Given the description of an element on the screen output the (x, y) to click on. 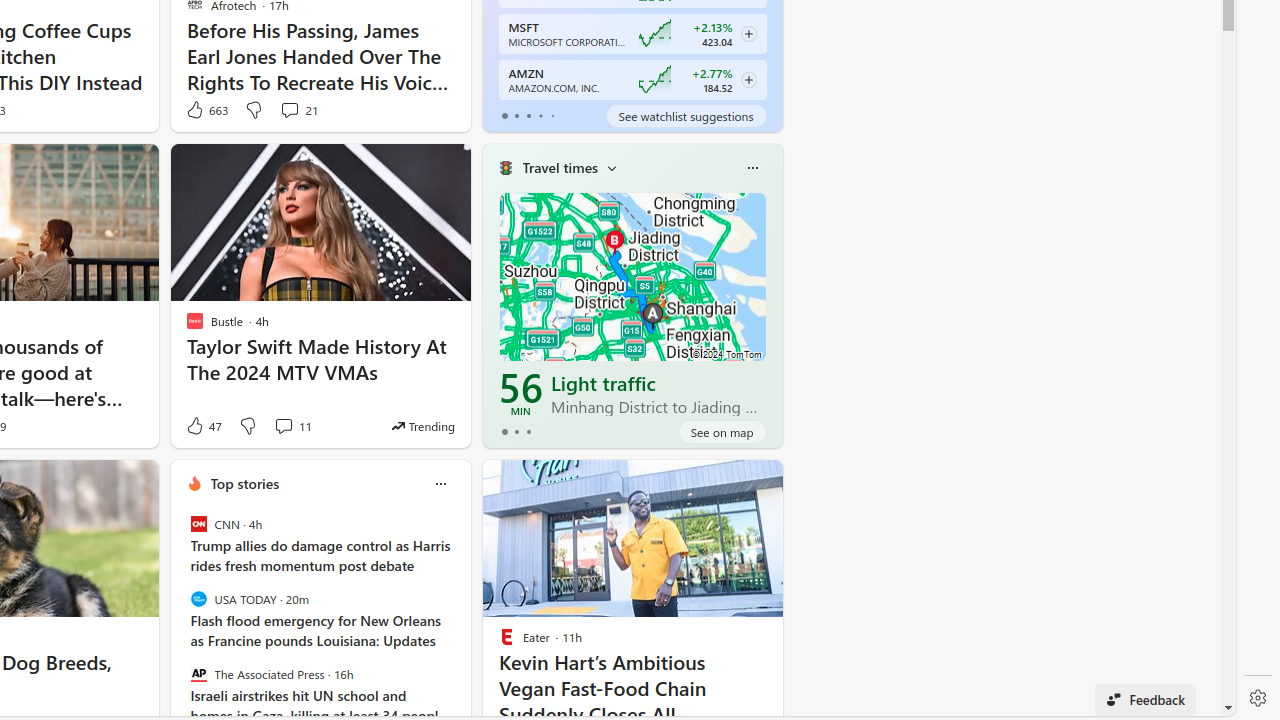
View comments 21 Comment Element type: link (298, 110)
More options Element type: push-button (440, 484)
View comments 11 Comment Element type: link (292, 426)
Help Element type: link (1001, 703)
663 Like Element type: toggle-button (206, 110)
